Given the description of an element on the screen output the (x, y) to click on. 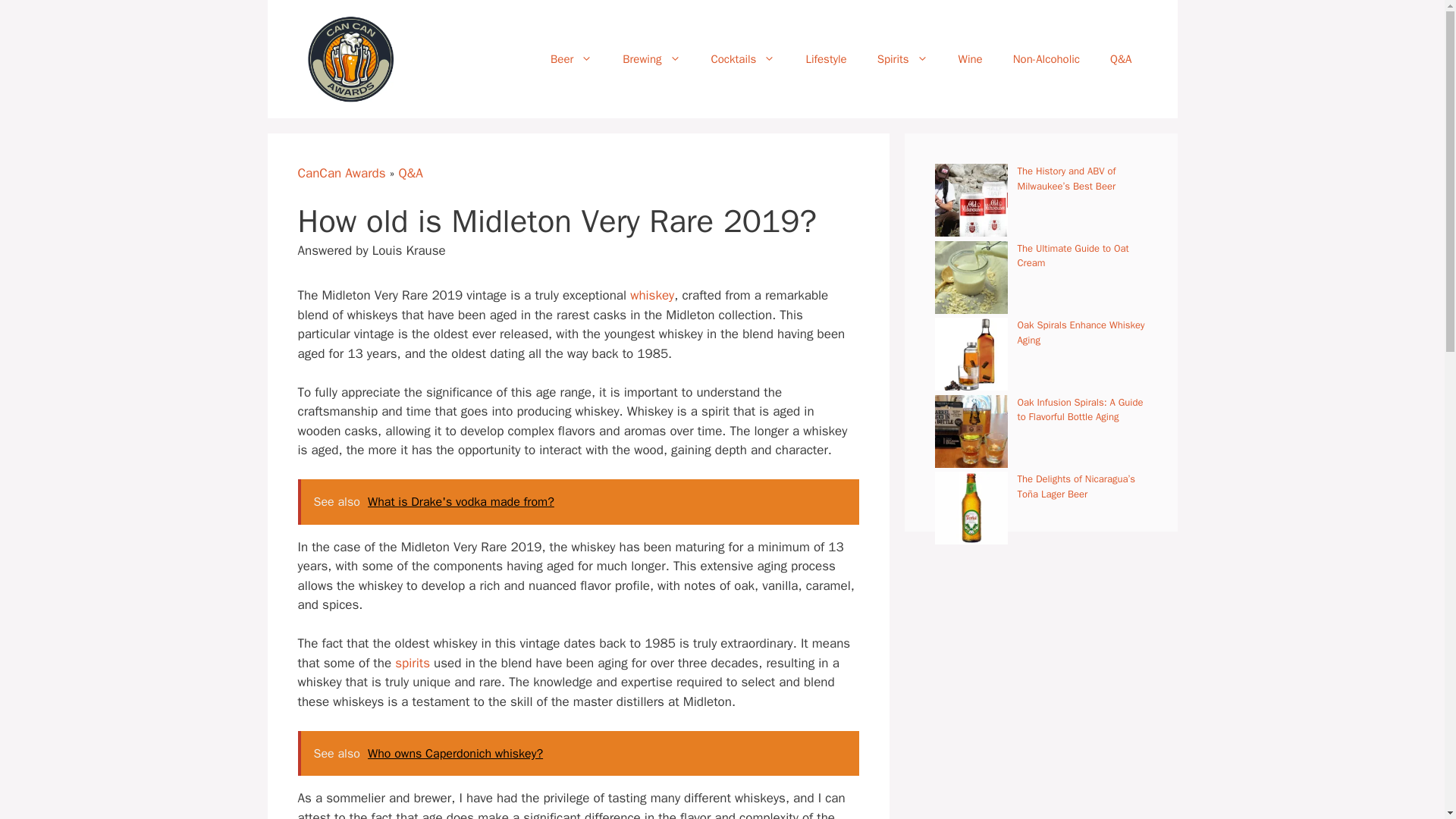
Oak Infusion Spirals: A Guide to Flavorful Bottle Aging 4 (970, 430)
Brewing (651, 58)
Oak Spirals Enhance Whiskey Aging 3 (970, 353)
Cocktails (742, 58)
Spirits (902, 58)
The Ultimate Guide to Oat Cream 2 (970, 276)
The History and ABV of Milwaukee's Best Beer 1 (970, 199)
Beer (571, 58)
Non-Alcoholic (1045, 58)
Wine (970, 58)
